Given the description of an element on the screen output the (x, y) to click on. 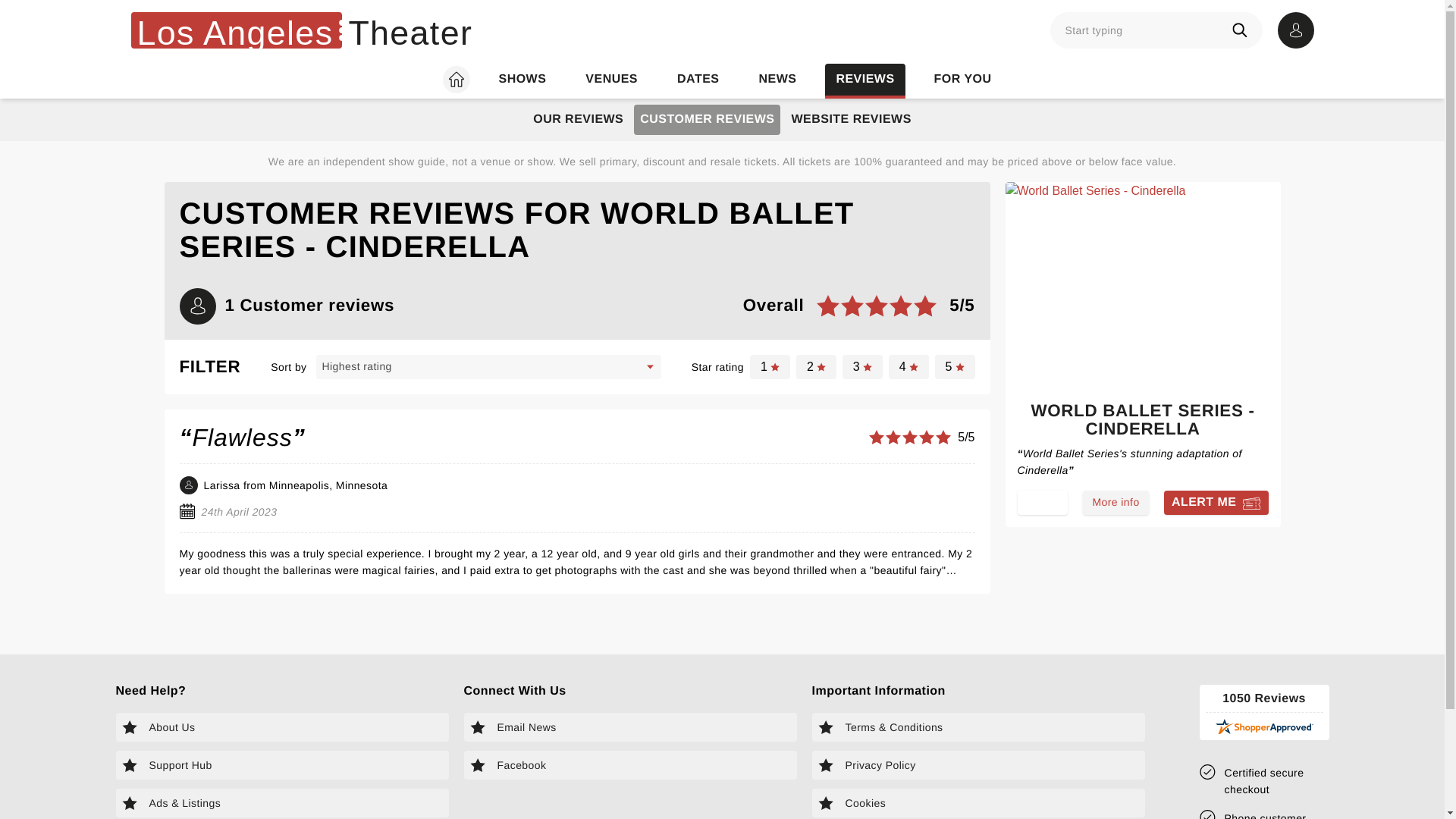
3 (862, 366)
Email News (630, 727)
REVIEWS (864, 80)
WORLD BALLET SERIES - CINDERELLA (1142, 423)
Support Hub (281, 765)
WEBSITE REVIEWS (850, 119)
Privacy Policy (978, 765)
FOR YOU (963, 80)
4 (908, 366)
Open account options (1294, 30)
